Given the description of an element on the screen output the (x, y) to click on. 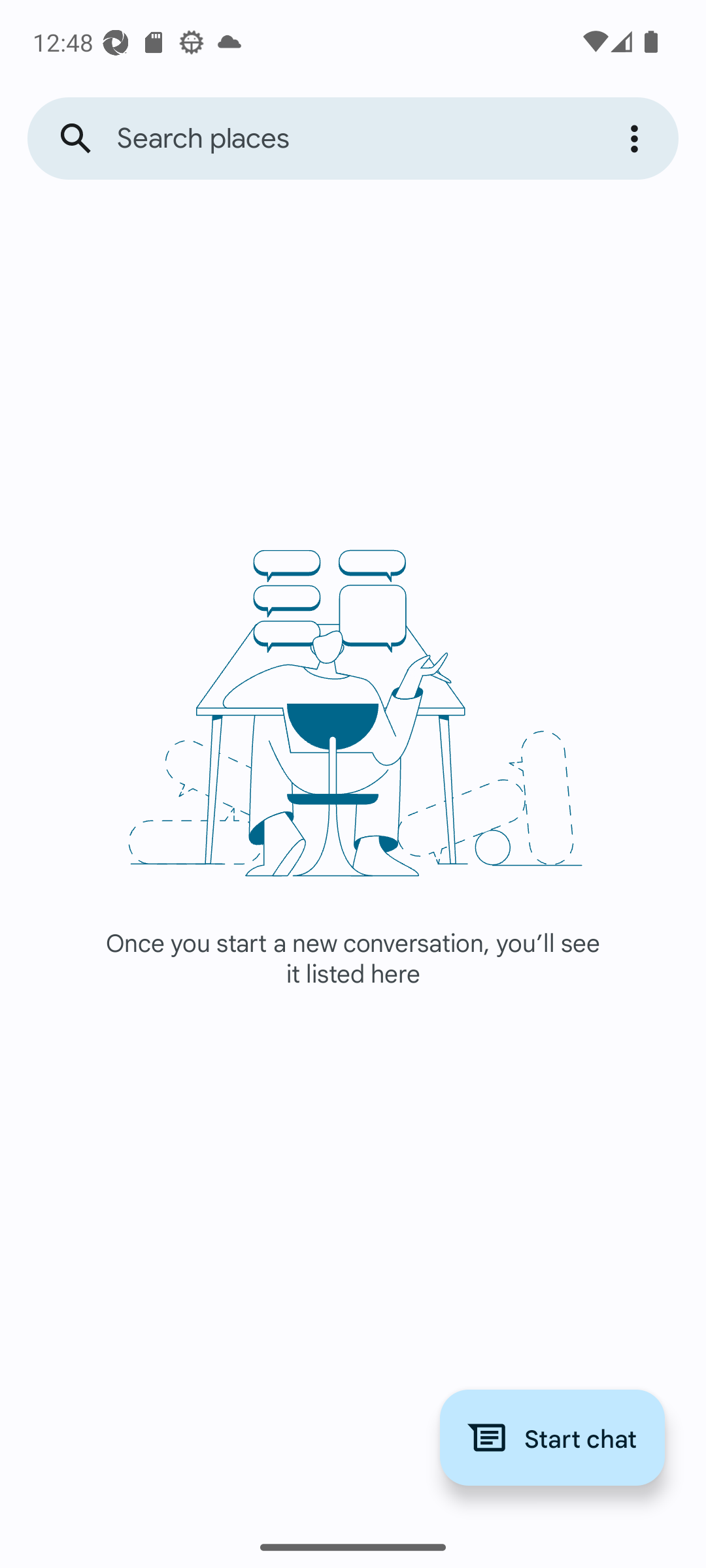
Navigate up (75, 138)
More options (636, 138)
Start chat (552, 1437)
